Given the description of an element on the screen output the (x, y) to click on. 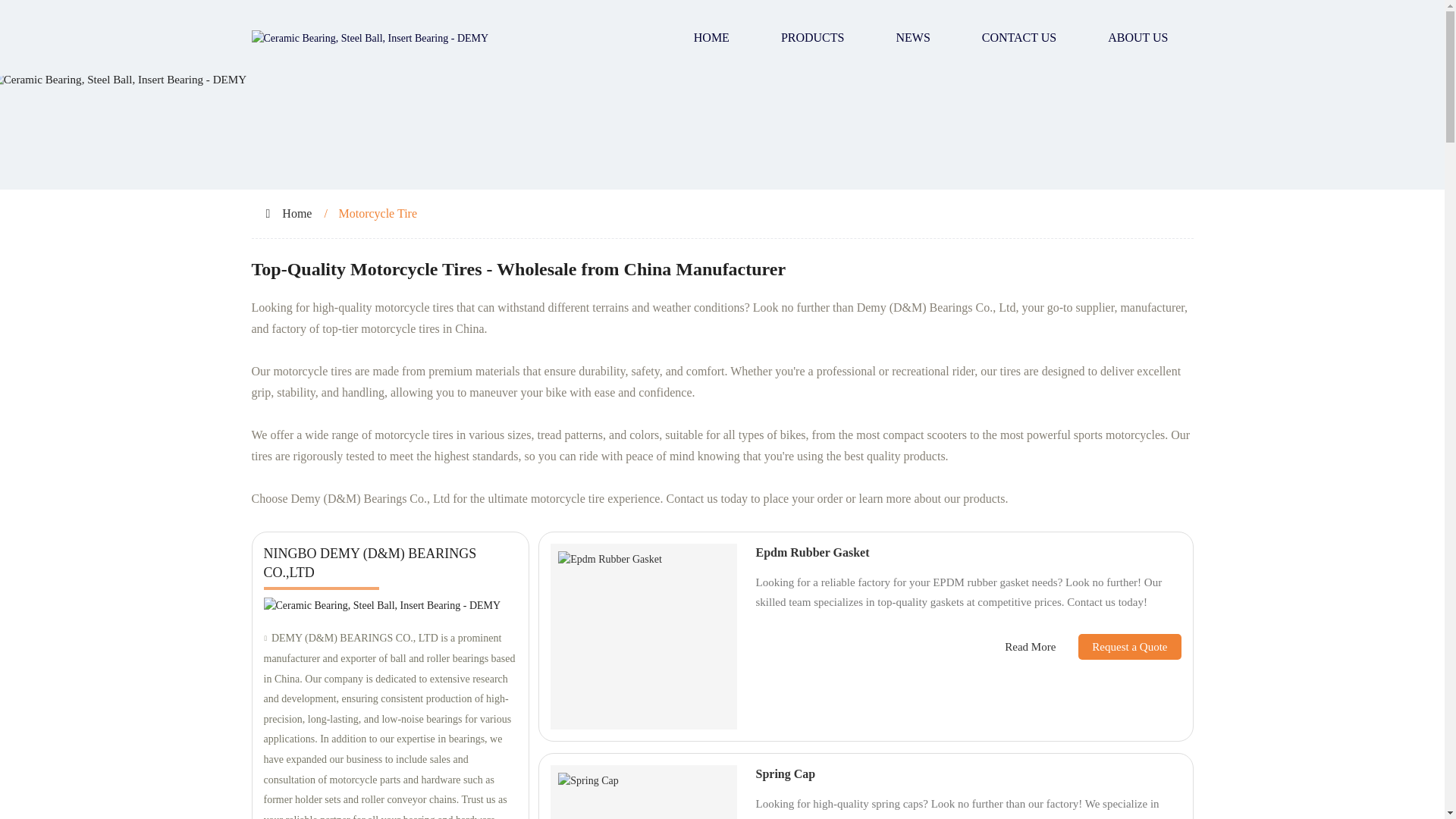
Epdm Rubber Gasket (812, 552)
CONTACT US (1018, 38)
Request a Quote (1117, 646)
Home (296, 213)
Read More (1029, 647)
PRODUCTS (812, 38)
